Given the description of an element on the screen output the (x, y) to click on. 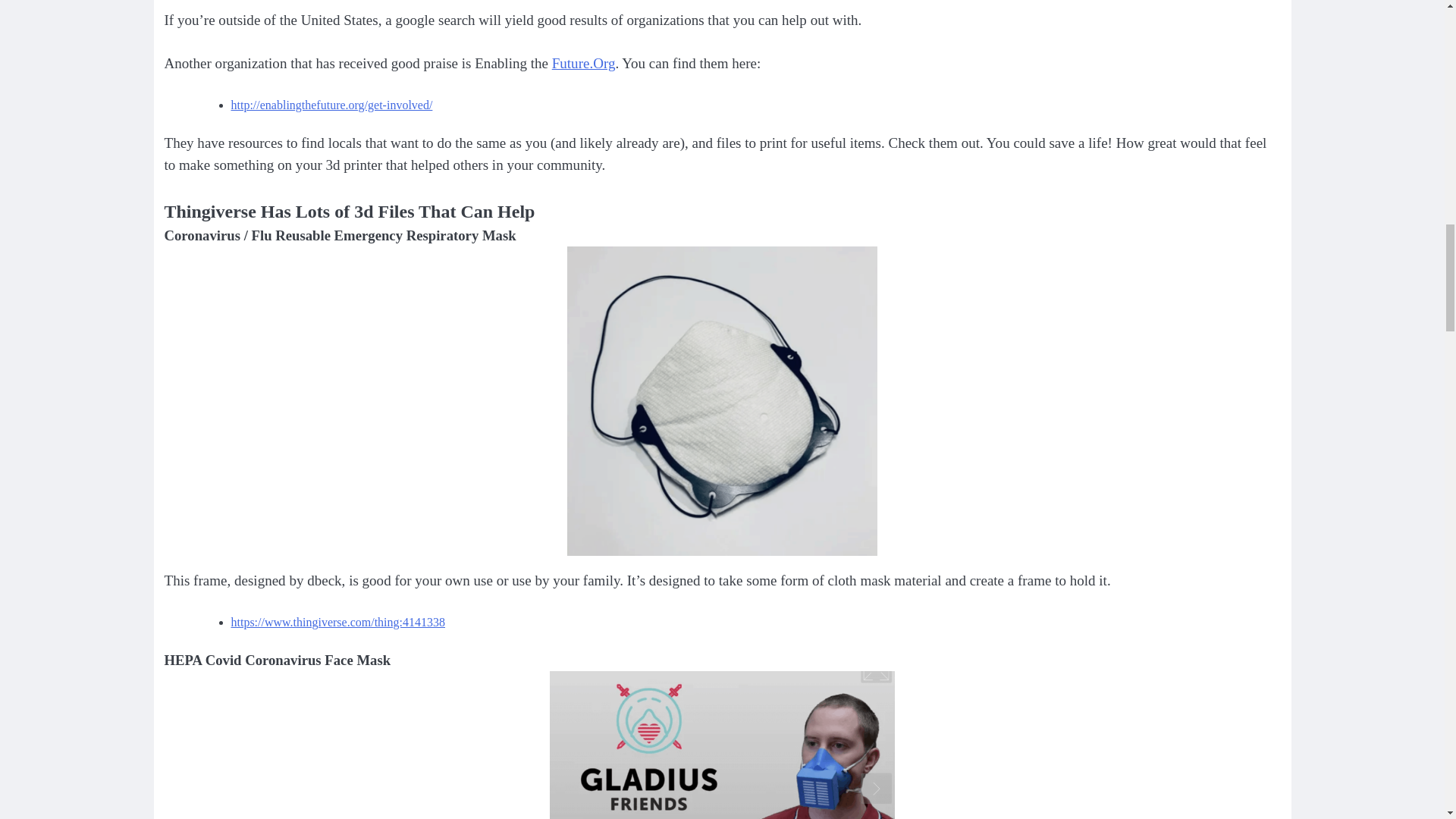
Future.Org (583, 63)
